Given the description of an element on the screen output the (x, y) to click on. 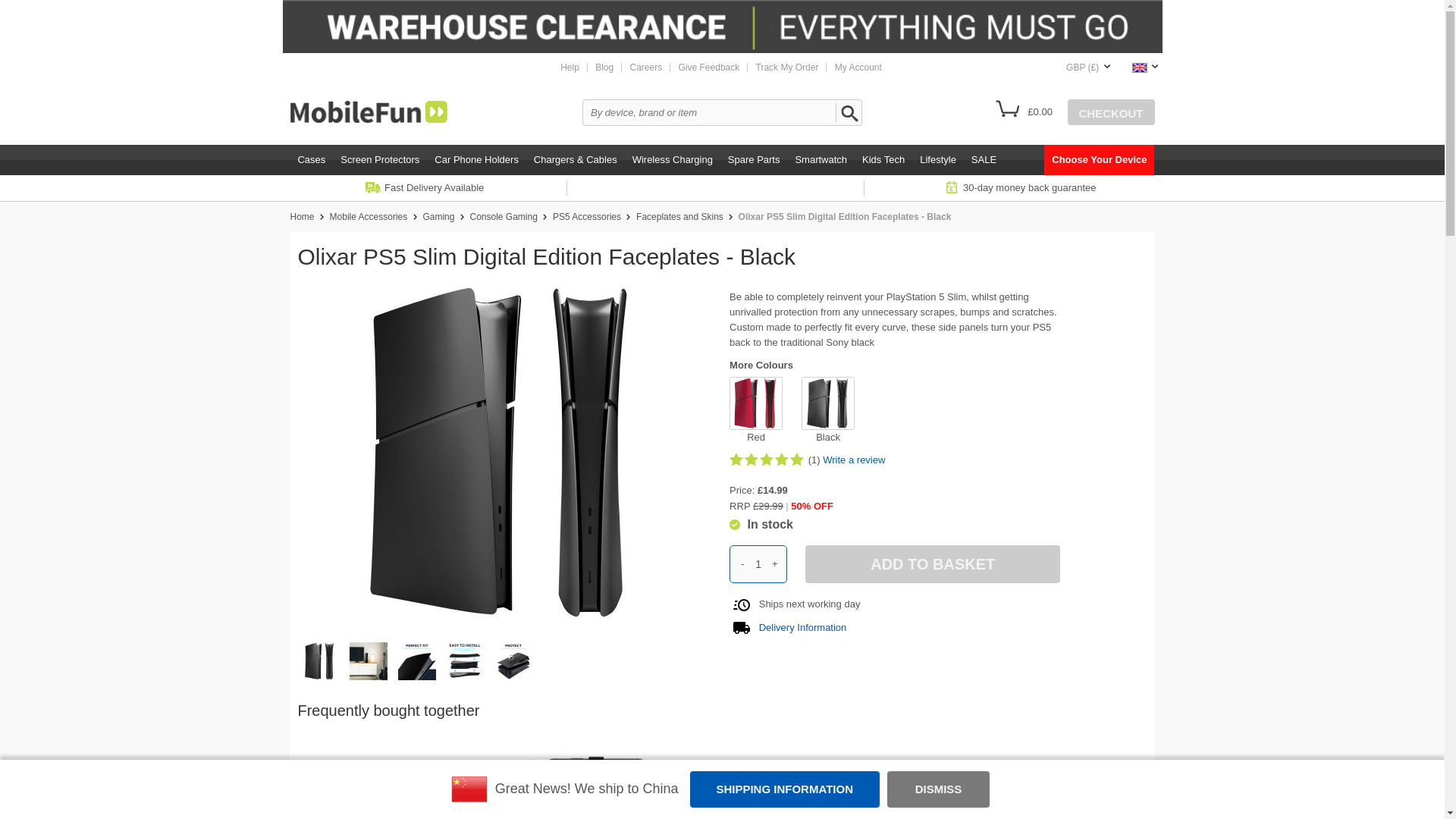
My Account (858, 67)
PS5 Faceplates and Skins (679, 216)
Track My Order (786, 67)
Give Feedback (708, 67)
Gaming Accessories For Your Console (502, 216)
Customer reviews powered by Trustpilot (721, 187)
Mobile Accessories (368, 216)
Qty (758, 564)
Cases (311, 159)
Olixar USB-C to HDMI 4K 60Hz Adapter for TVs and Monitors (384, 778)
